Given the description of an element on the screen output the (x, y) to click on. 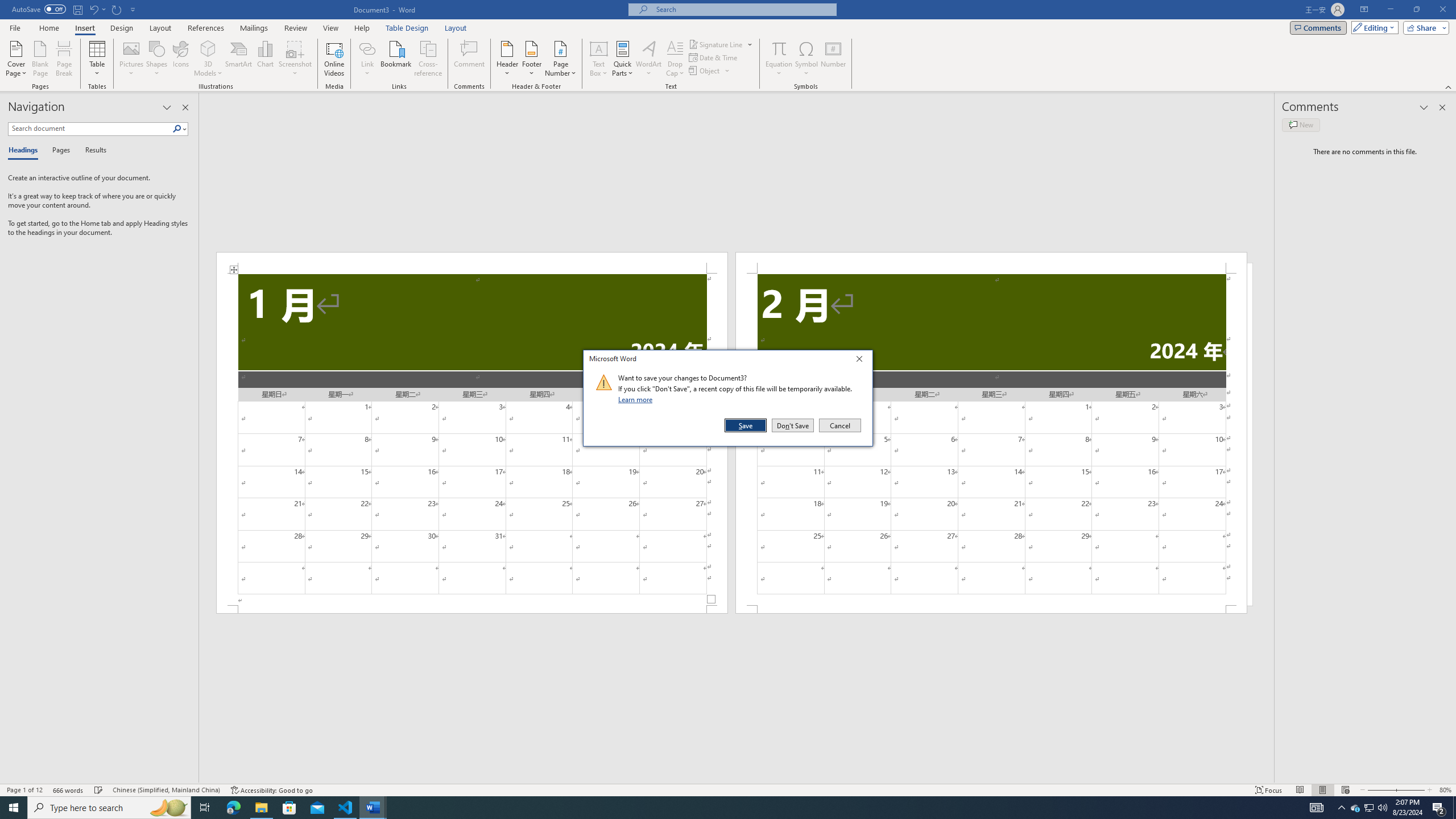
Pictures (131, 58)
Search highlights icon opens search home window (167, 807)
Bookmark... (396, 58)
Accessibility Checker Accessibility: Good to go (271, 790)
Shapes (1368, 807)
Object... (156, 58)
Signature Line (709, 69)
Object... (721, 44)
Table Design (705, 69)
Online Videos... (407, 28)
Text Box (333, 58)
